Given the description of an element on the screen output the (x, y) to click on. 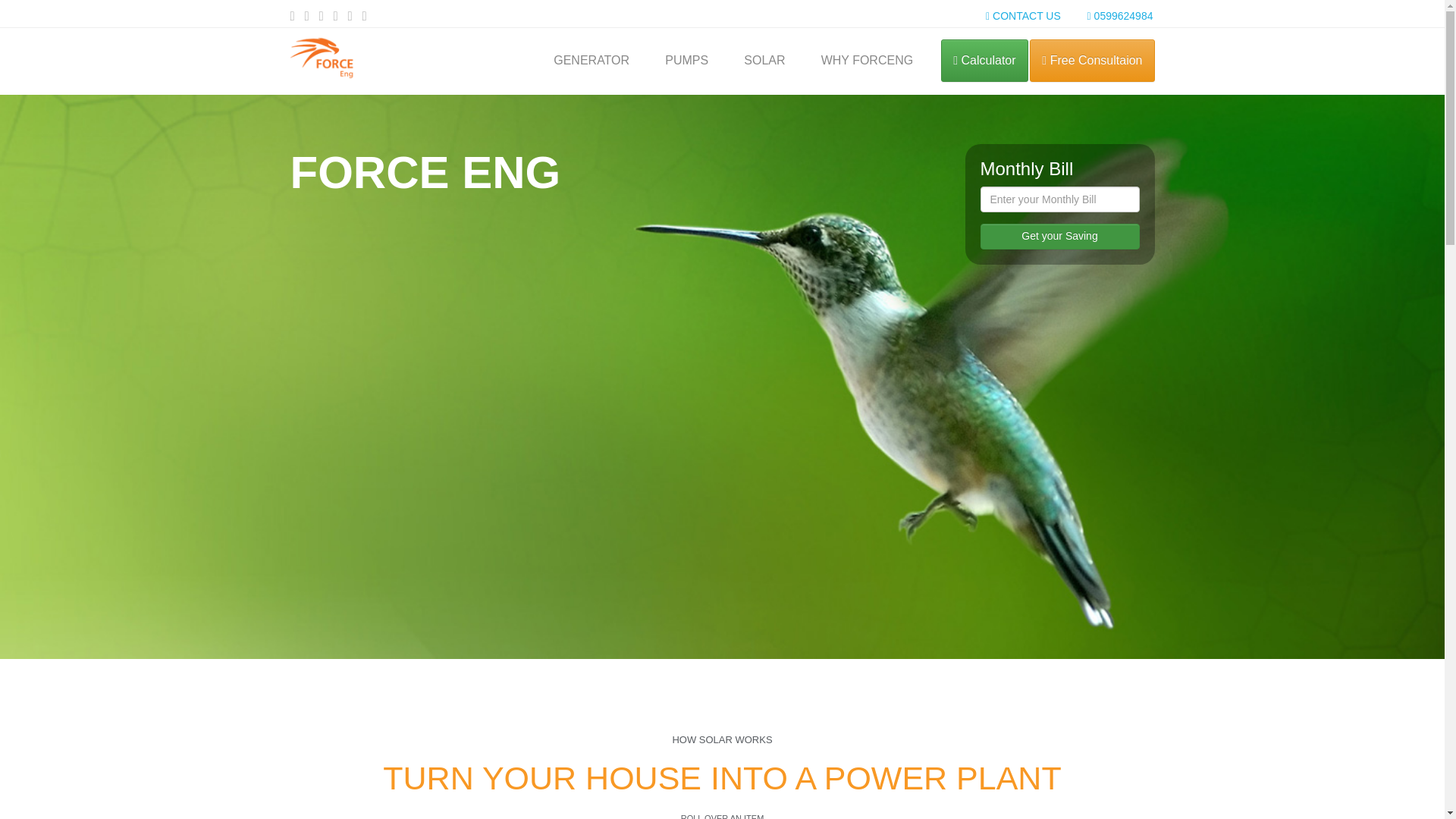
PUMPS (687, 64)
Calculator (983, 60)
WHY FORCENG (866, 64)
CONTACT US (1023, 15)
Get your Saving (1058, 236)
0599624984 (1120, 15)
Free Consultaion (1091, 60)
Get your Saving (1058, 236)
SOLAR (764, 64)
GENERATOR (591, 64)
